Given the description of an element on the screen output the (x, y) to click on. 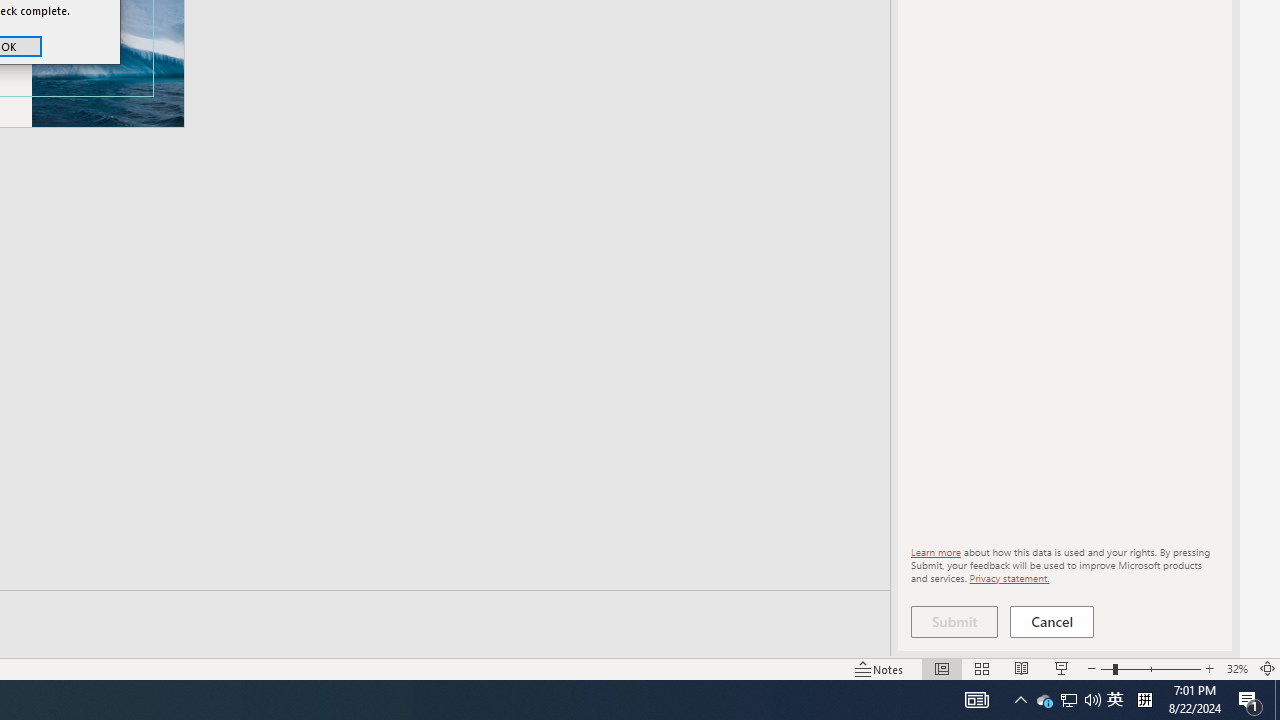
Learn more (936, 551)
Tray Input Indicator - Chinese (Simplified, China) (1144, 699)
Privacy statement. (1008, 577)
User Promoted Notification Area (1068, 699)
Q2790: 100% (1092, 699)
Action Center, 1 new notification (1250, 699)
AutomationID: 4105 (976, 699)
Notification Chevron (1020, 699)
Cancel (1051, 621)
